Given the description of an element on the screen output the (x, y) to click on. 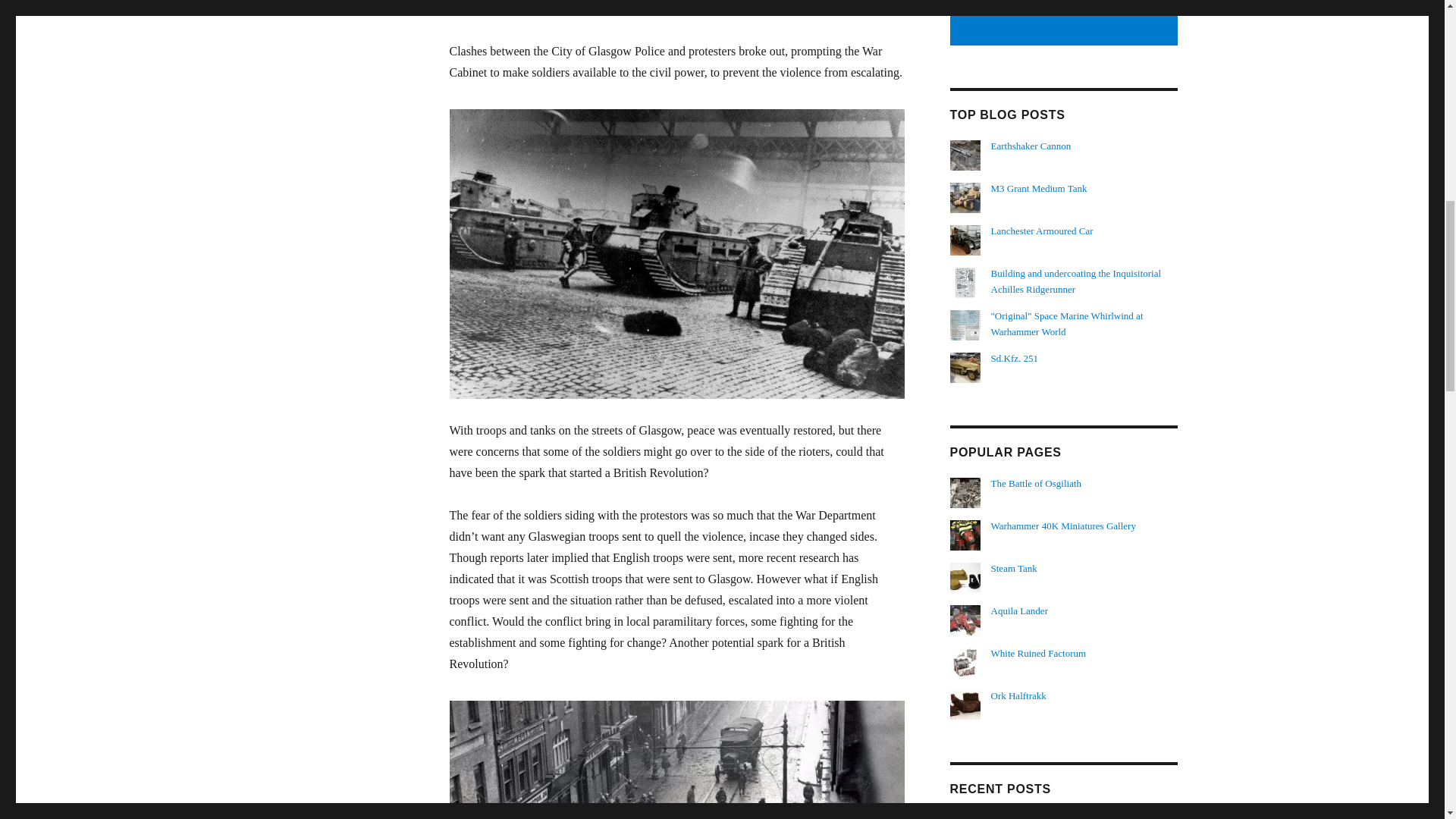
Advertisement (1065, 23)
Earthshaker Cannon (1031, 145)
Earthshaker Cannon (1031, 145)
M3 Grant Medium Tank (1039, 188)
Lanchester Armoured Car (1042, 230)
